Given the description of an element on the screen output the (x, y) to click on. 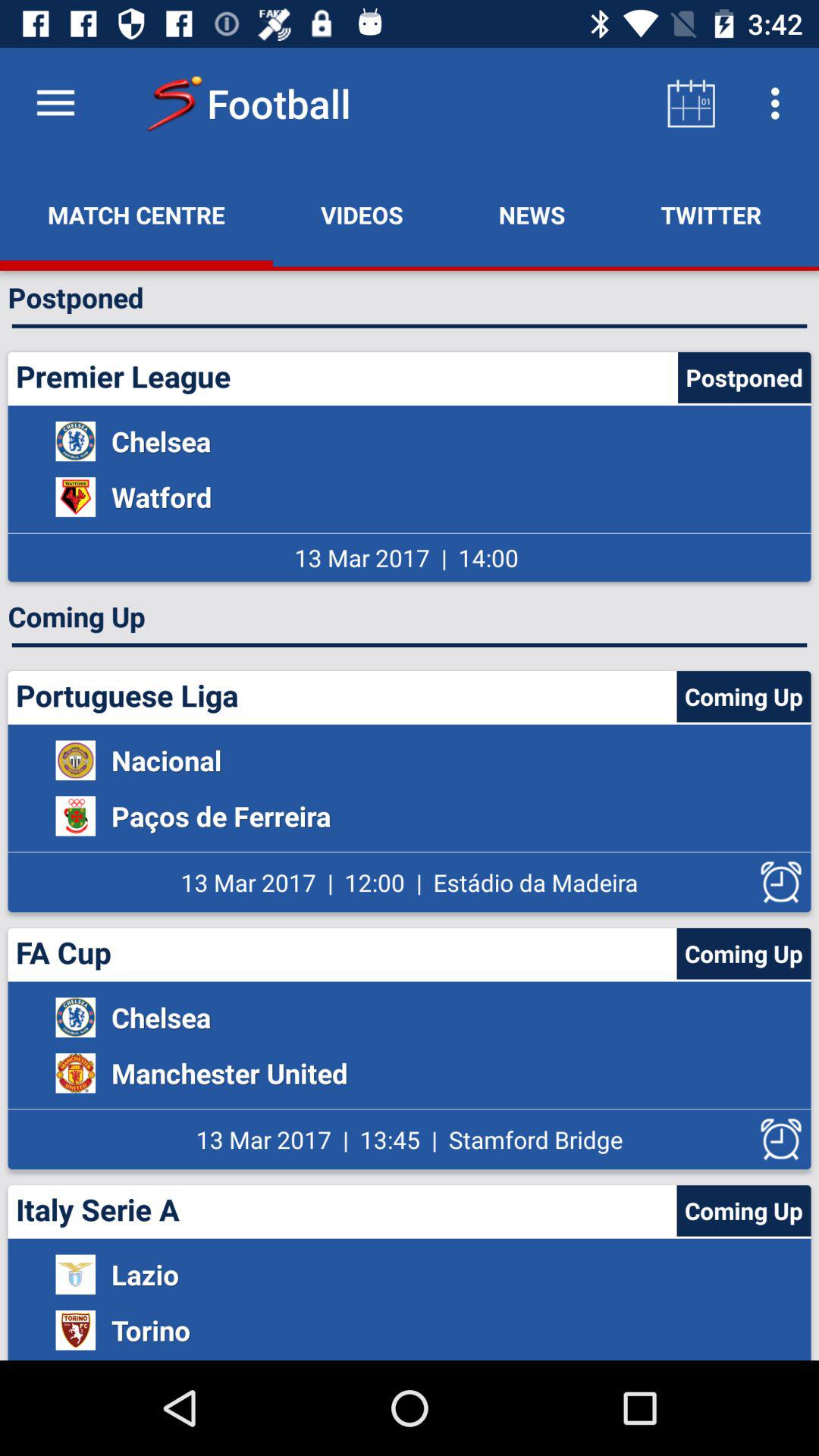
turn on news item (532, 214)
